Given the description of an element on the screen output the (x, y) to click on. 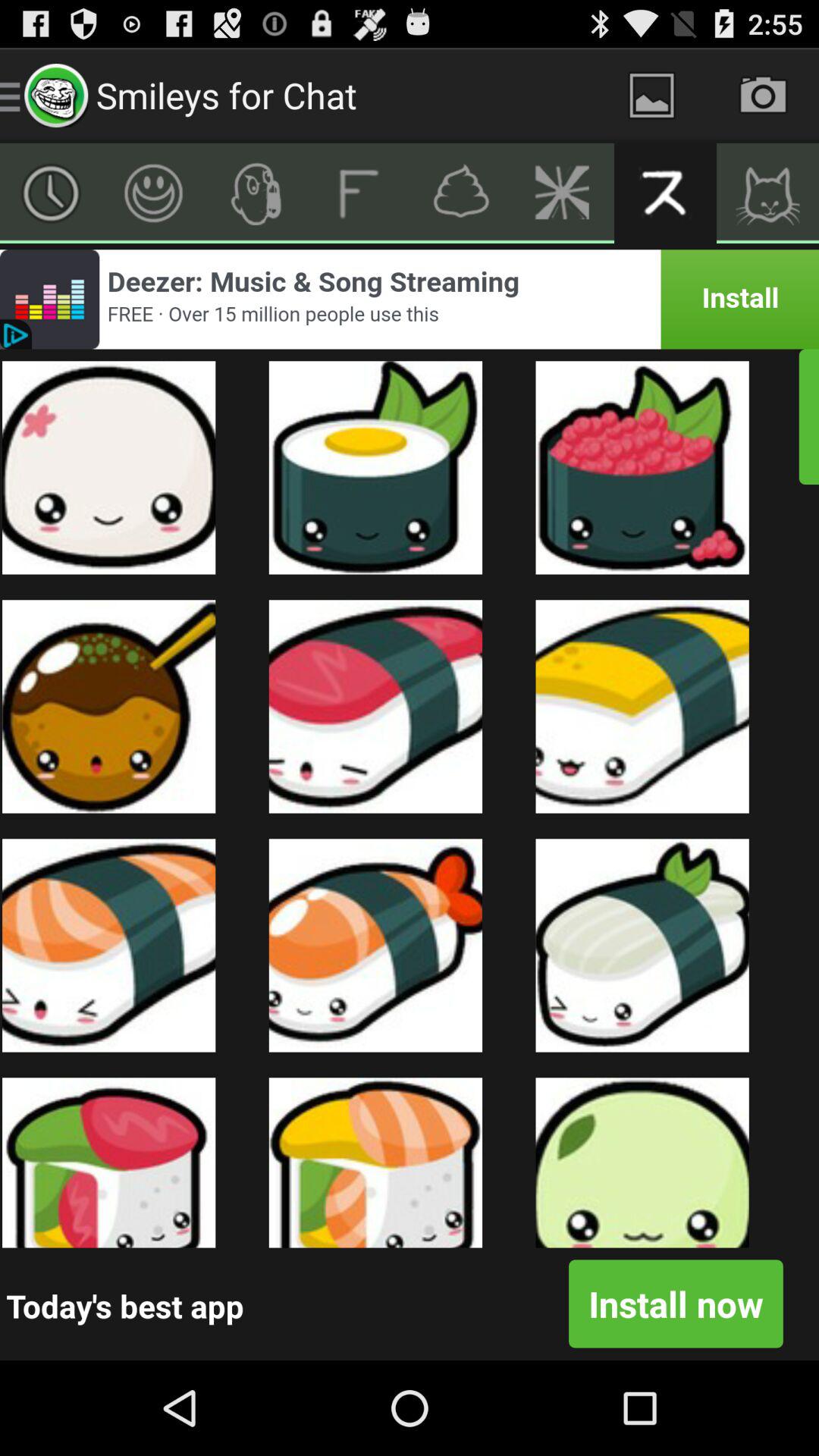
takes screen shot (763, 95)
